Given the description of an element on the screen output the (x, y) to click on. 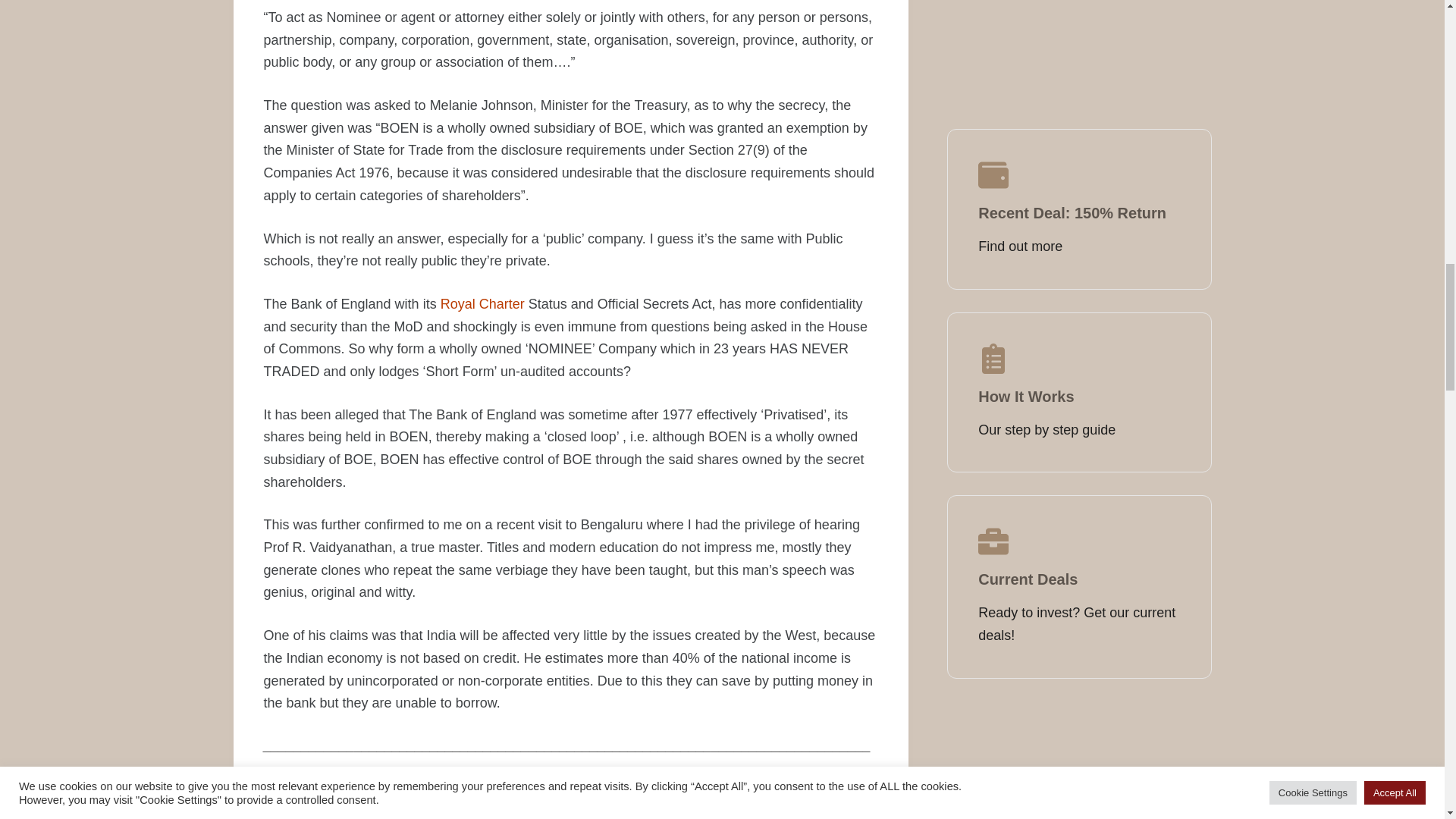
Royal Charter (482, 304)
